Given the description of an element on the screen output the (x, y) to click on. 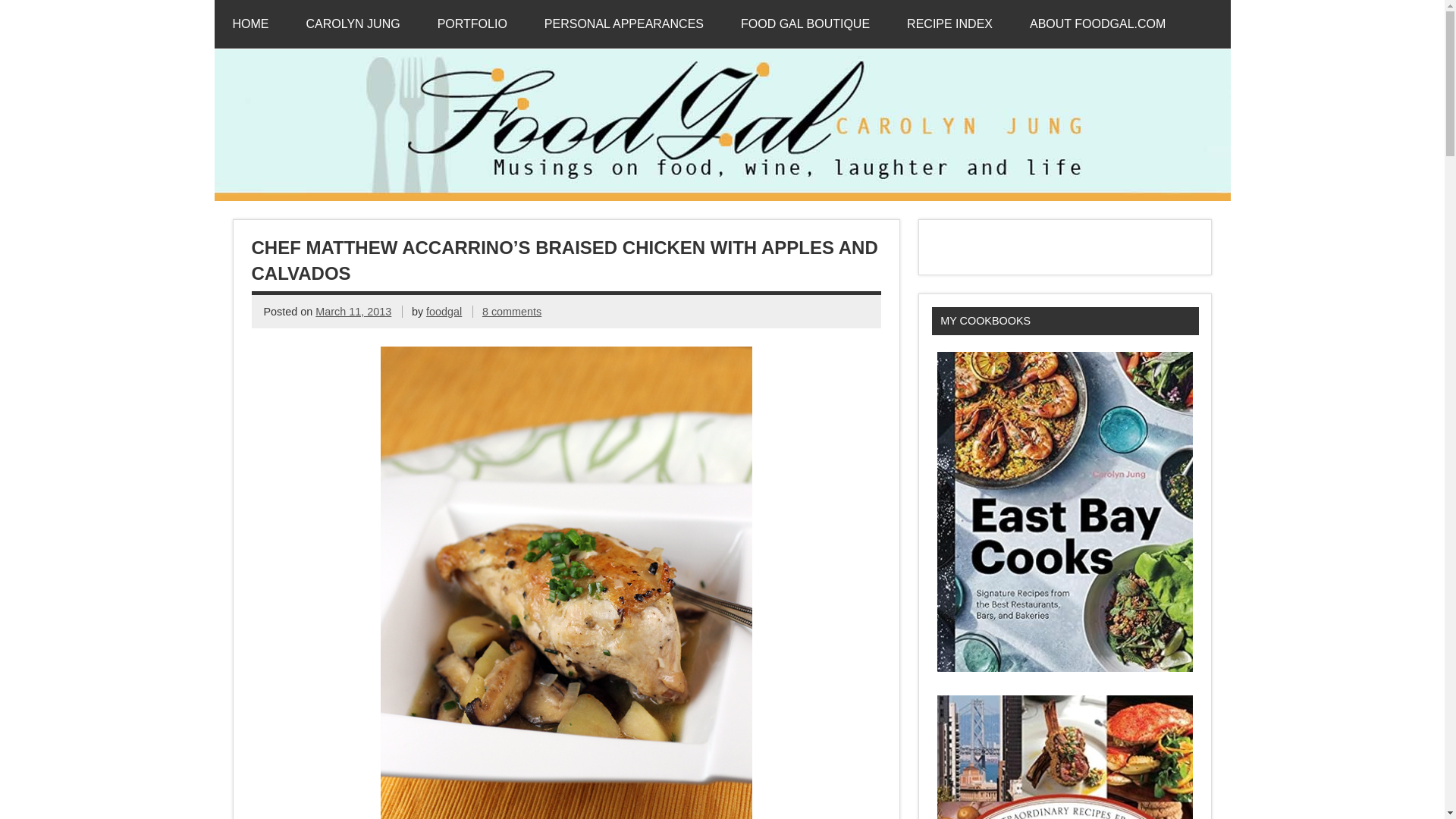
FOOD GAL BOUTIQUE (805, 24)
View all posts by foodgal (443, 311)
PORTFOLIO (472, 24)
foodgal (443, 311)
PERSONAL APPEARANCES (623, 24)
CAROLYN JUNG (353, 24)
HOME (250, 24)
March 11, 2013 (353, 311)
5:25 am (353, 311)
8 comments (511, 311)
